Given the description of an element on the screen output the (x, y) to click on. 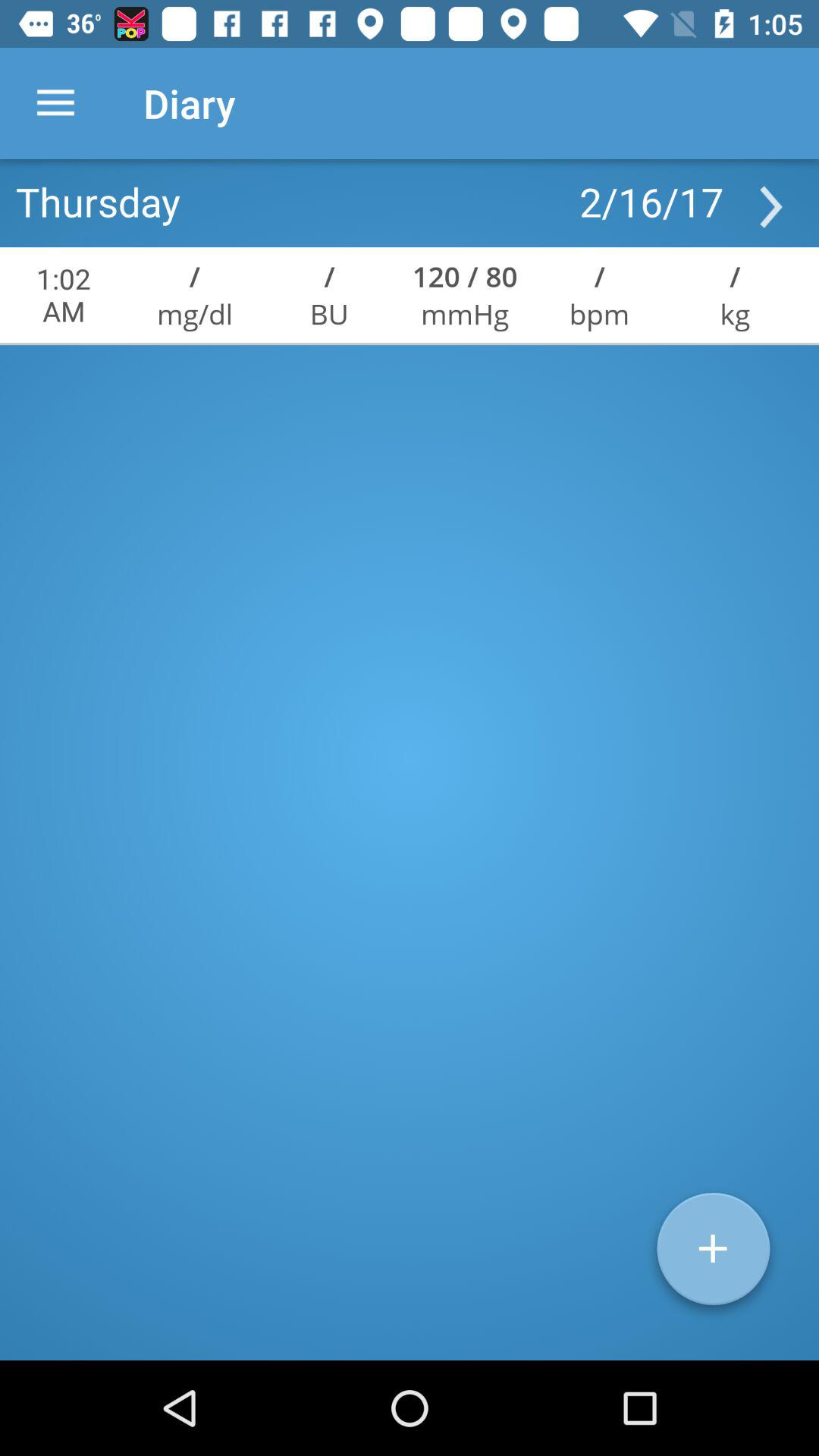
click icon next to 2/16/17 (97, 201)
